Given the description of an element on the screen output the (x, y) to click on. 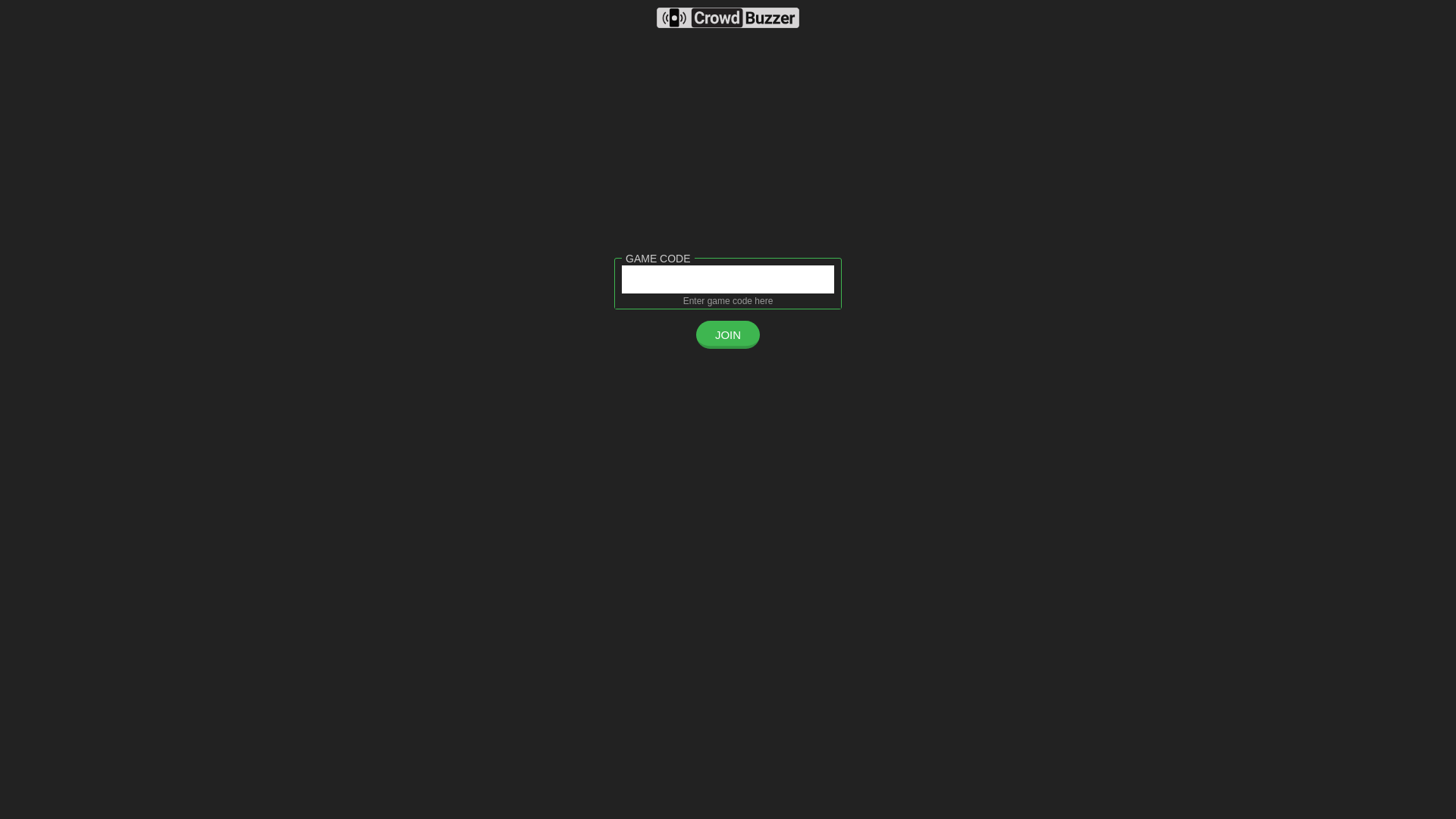
JOIN Element type: text (727, 334)
